Given the description of an element on the screen output the (x, y) to click on. 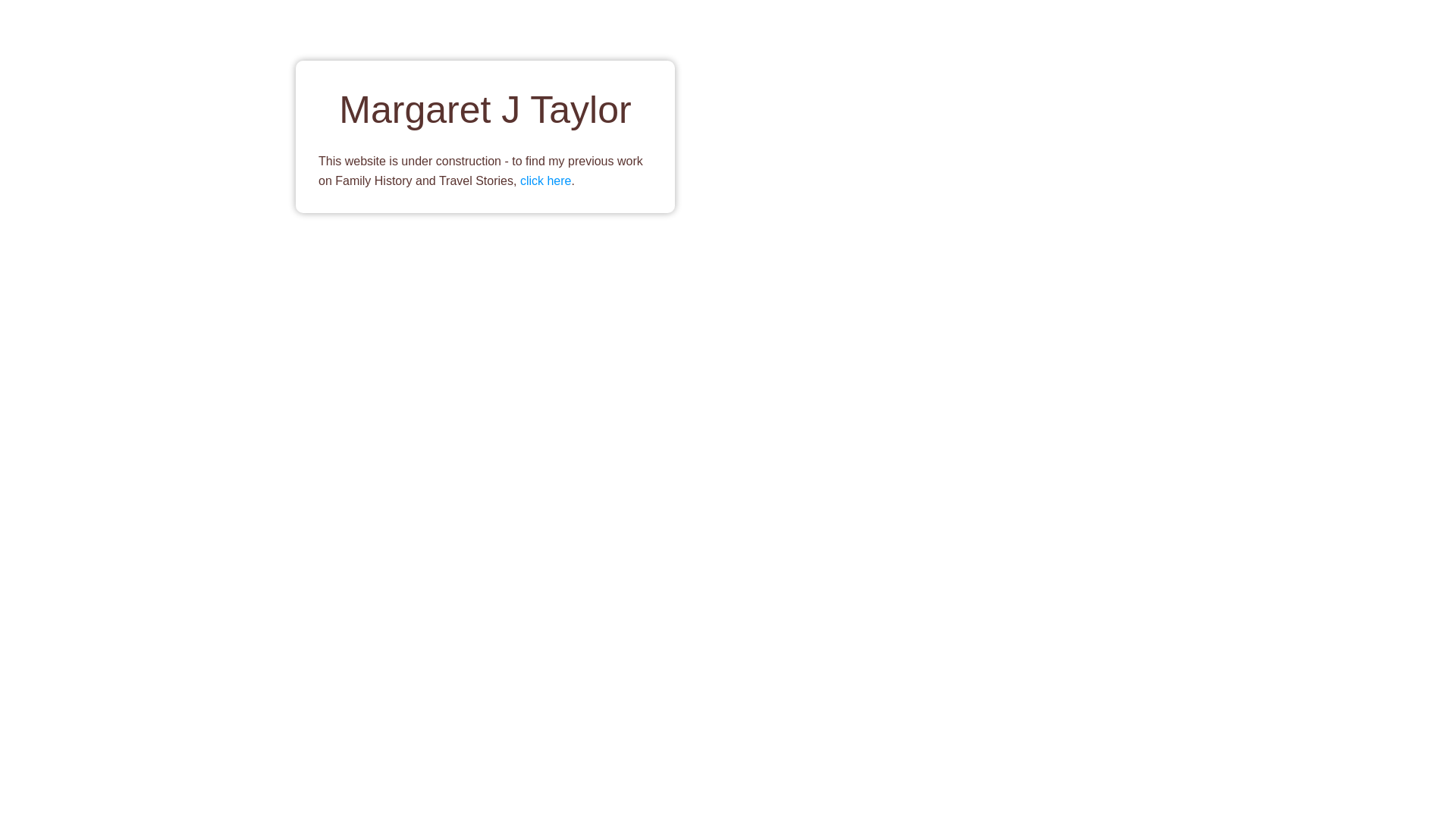
click here Element type: text (545, 180)
